Given the description of an element on the screen output the (x, y) to click on. 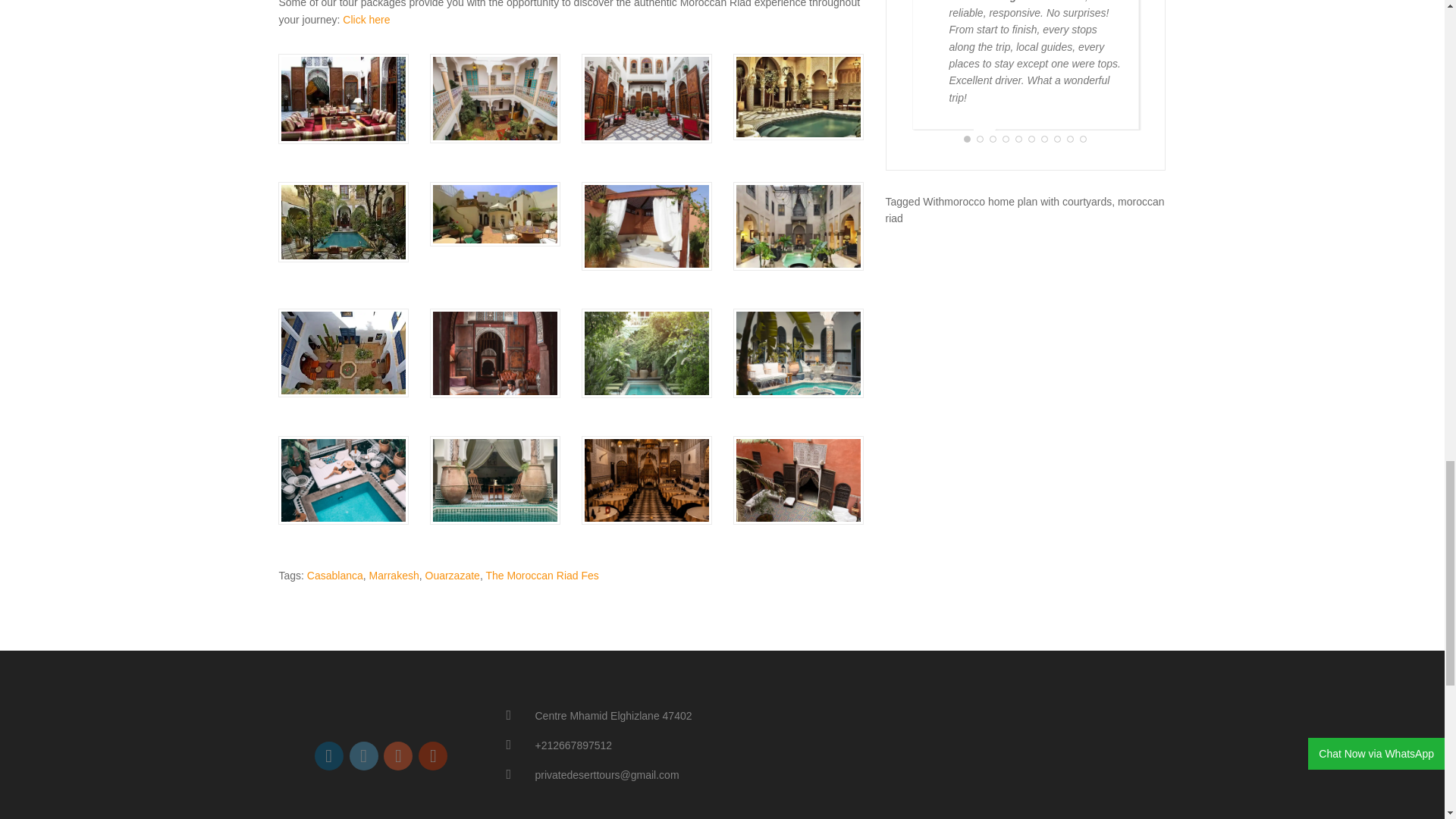
Click here (366, 19)
google plus (398, 756)
twitter (363, 756)
facebook (328, 756)
